Given the description of an element on the screen output the (x, y) to click on. 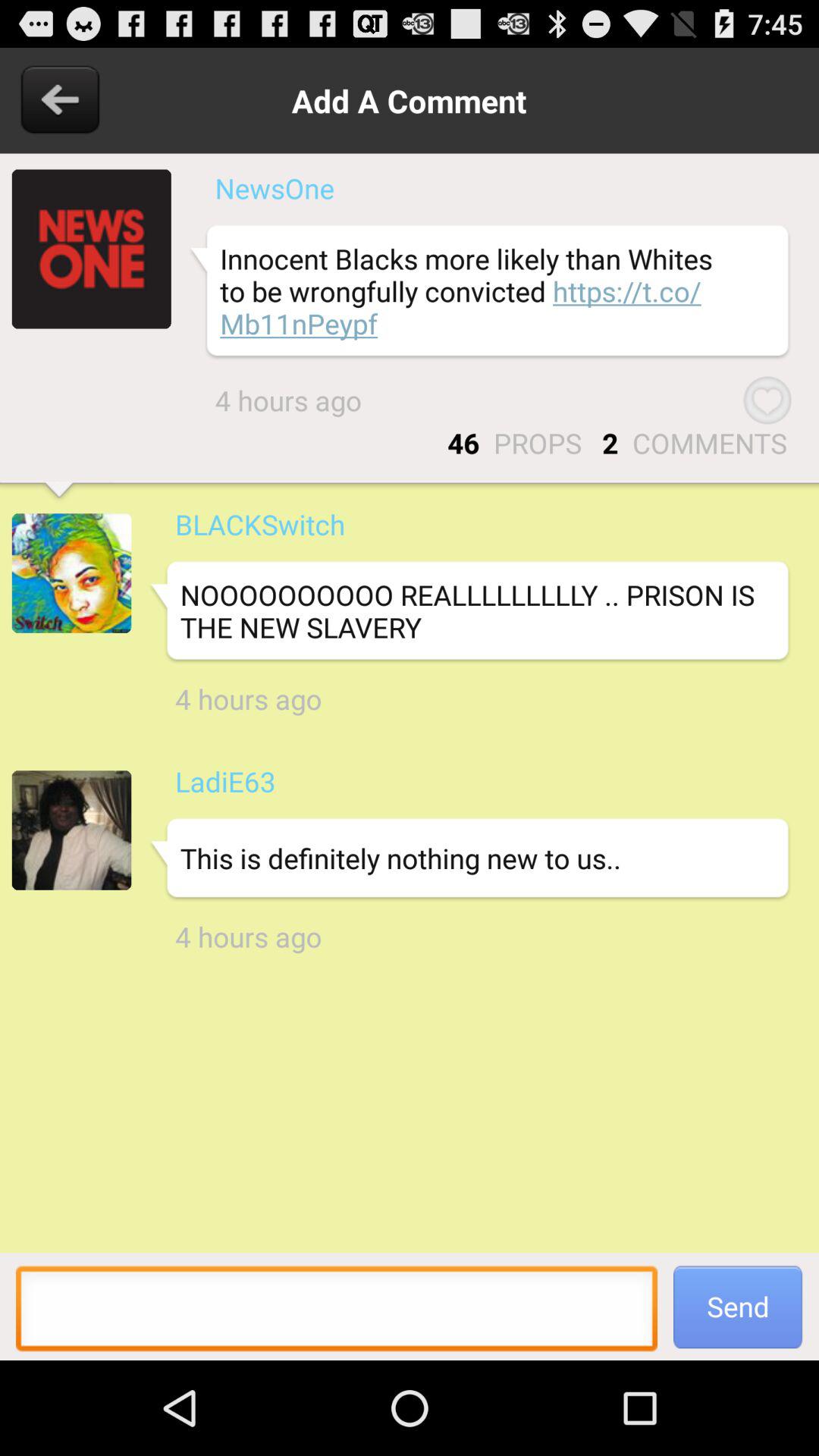
tap icon above 4 hours ago item (469, 611)
